Given the description of an element on the screen output the (x, y) to click on. 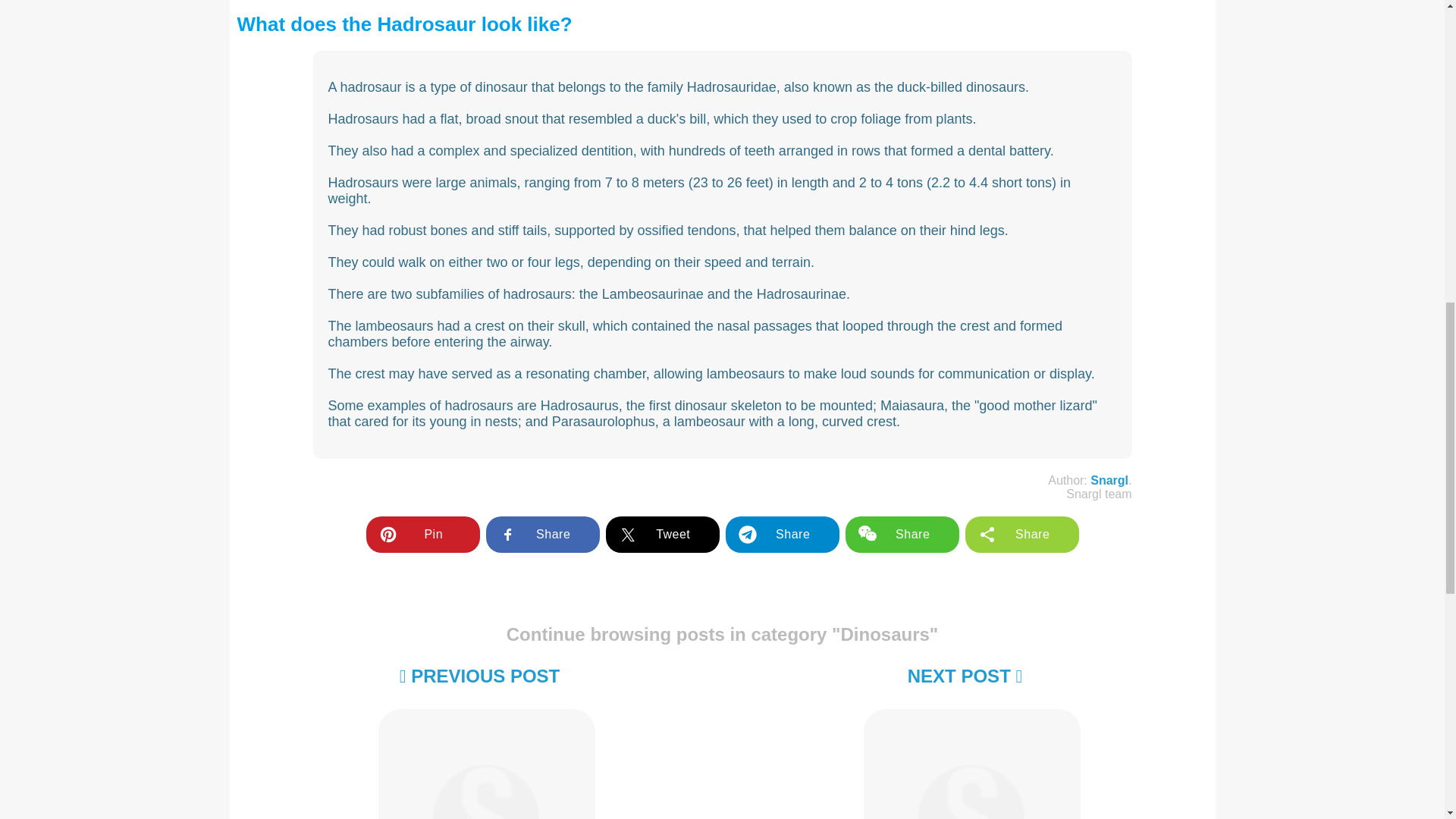
Ventogyrus (484, 761)
Hadrosaurid (970, 761)
Snargl (1109, 480)
PREVIOUS POST (478, 675)
NEXT POST (964, 675)
